Given the description of an element on the screen output the (x, y) to click on. 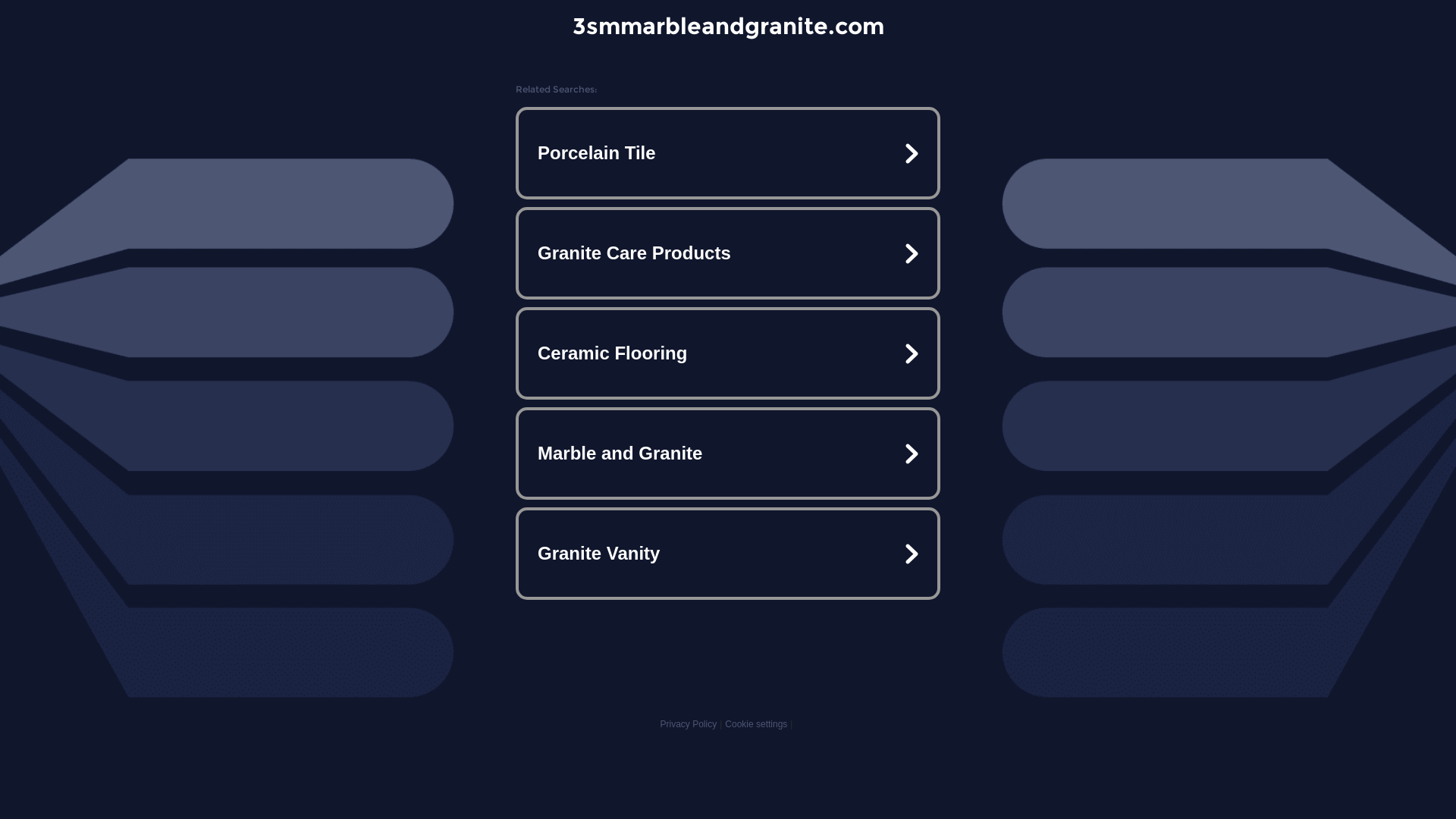
Cookie settings Element type: text (755, 723)
Granite Care Products Element type: text (727, 253)
Granite Vanity Element type: text (727, 553)
3smmarbleandgranite.com Element type: text (727, 26)
Marble and Granite Element type: text (727, 453)
Porcelain Tile Element type: text (727, 152)
Privacy Policy Element type: text (687, 723)
Ceramic Flooring Element type: text (727, 353)
